Given the description of an element on the screen output the (x, y) to click on. 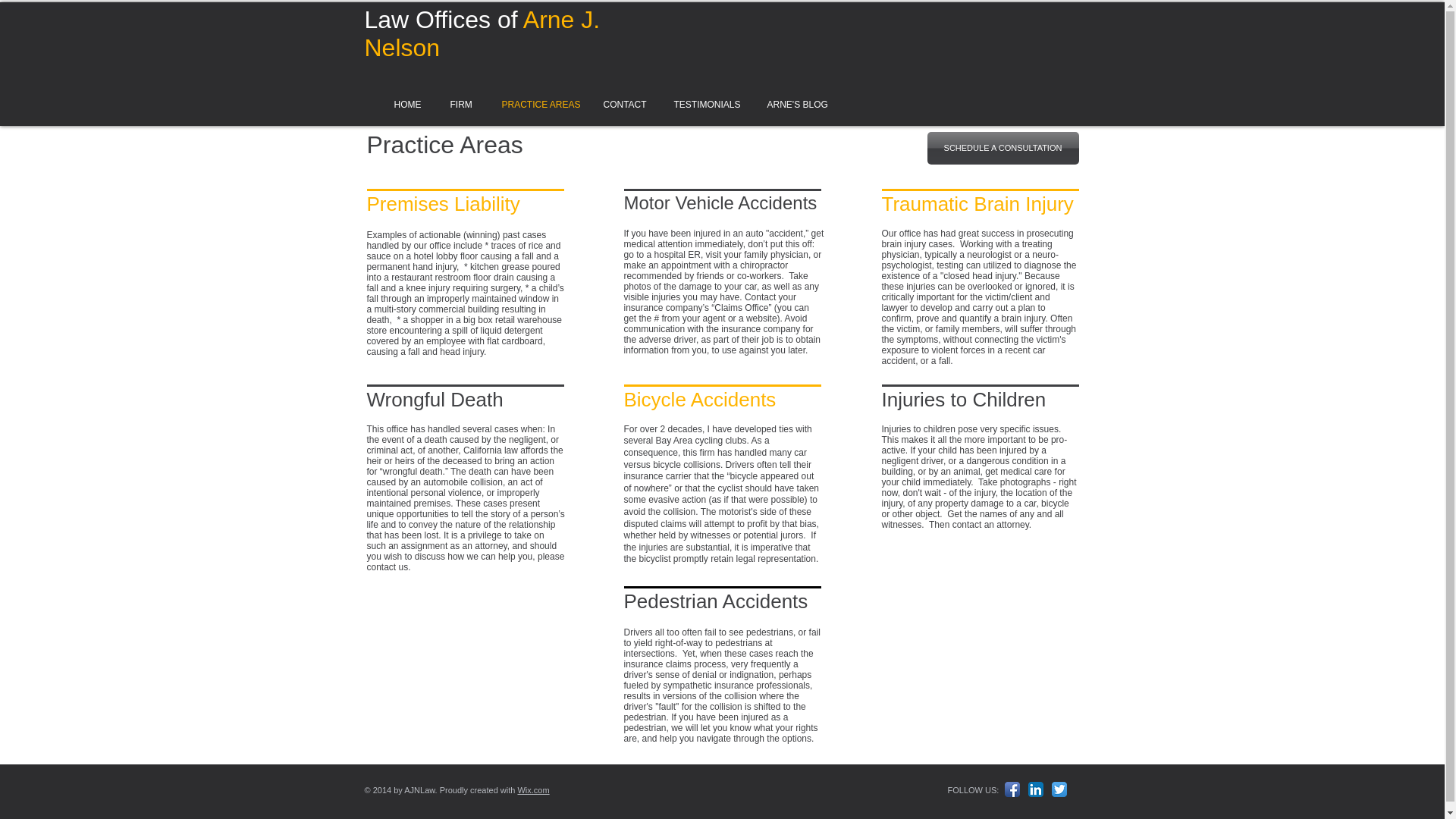
Injuries to Children (962, 399)
Motor Vehicle Accidents (719, 202)
Wrongful Death (434, 399)
CONTACT (622, 104)
Wix.com (532, 789)
FIRM (458, 104)
TESTIMONIALS (704, 104)
Pedestrian Accidents (715, 600)
ARNE'S BLOG (794, 104)
Bicycle Accidents (699, 399)
SCHEDULE A CONSULTATION (1002, 147)
Premises Liability (442, 203)
HOME (405, 104)
PRACTICE AREAS (535, 104)
Traumatic Brain Injury (976, 203)
